Given the description of an element on the screen output the (x, y) to click on. 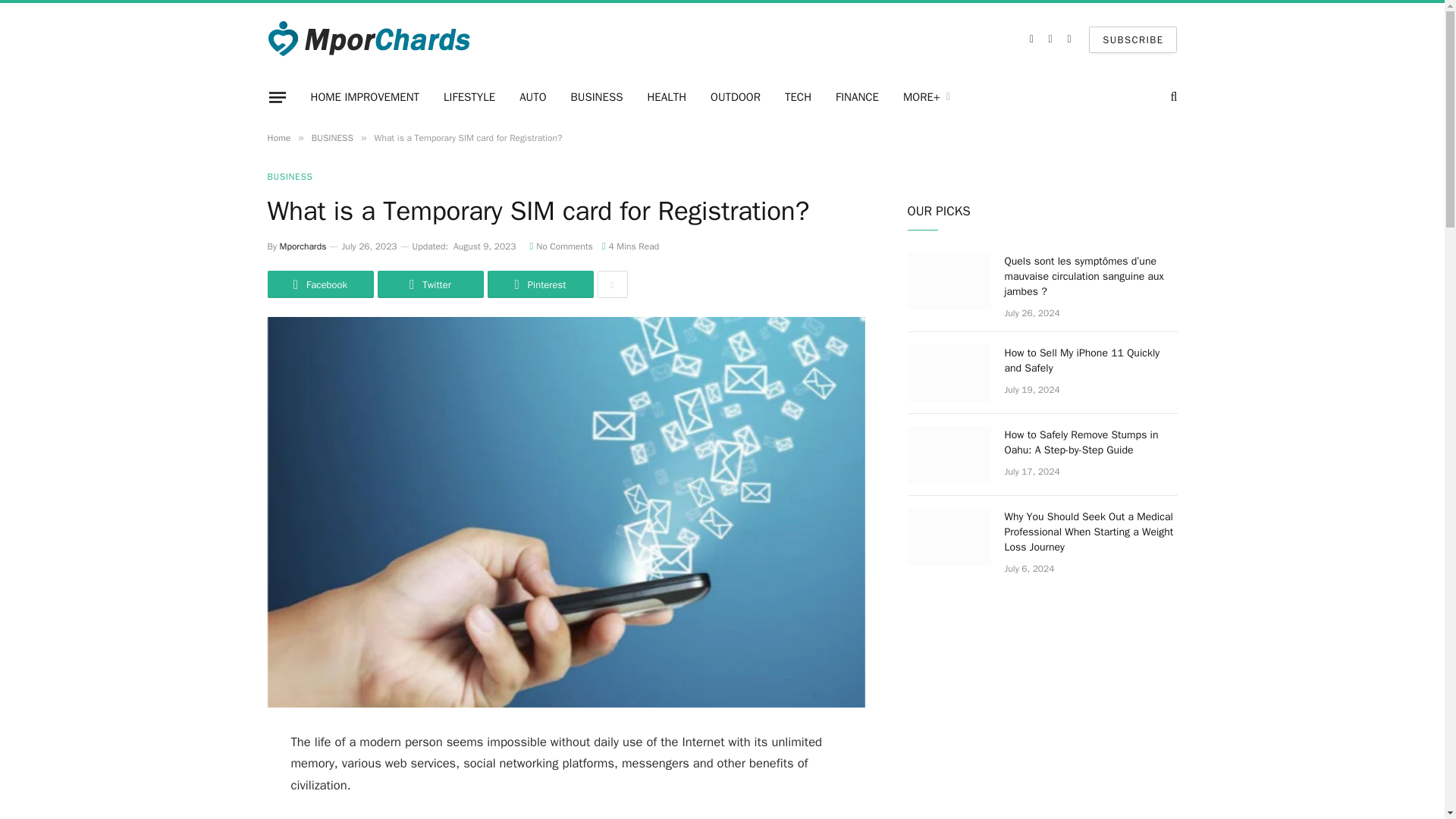
HEALTH (666, 96)
MporChards (369, 39)
Share on Pinterest (539, 284)
Share on Twitter (430, 284)
Posts by Mporchards (302, 246)
LIFESTYLE (468, 96)
SUBSCRIBE (1132, 38)
AUTO (531, 96)
TECH (798, 96)
Search (1172, 97)
Facebook (1032, 39)
BUSINESS (596, 96)
OUTDOOR (735, 96)
Share on Facebook (319, 284)
